Given the description of an element on the screen output the (x, y) to click on. 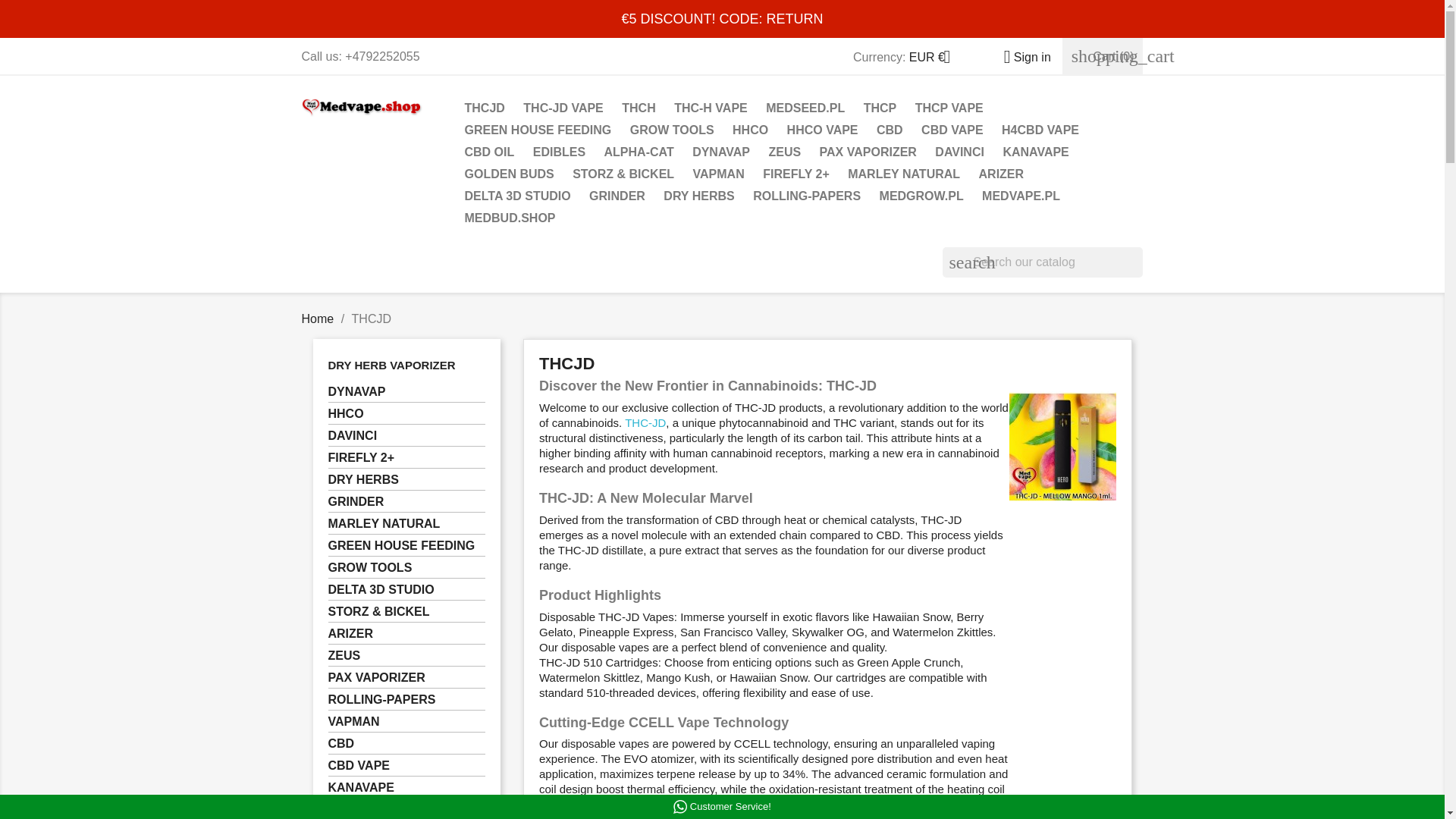
PAX VAPORIZER (868, 153)
THCH (638, 109)
THC-H VAPE (710, 109)
THCJD (484, 109)
DYNAVAP (720, 153)
THCP (880, 109)
DAVINCI (959, 153)
CBD OIL (489, 153)
ZEUS (784, 153)
DELTA 3D STUDIO (517, 197)
GRINDER (616, 197)
Log in to your customer account (1020, 56)
EDIBLES (558, 153)
VAPMAN (718, 175)
THC-JD VAPE (563, 109)
